Given the description of an element on the screen output the (x, y) to click on. 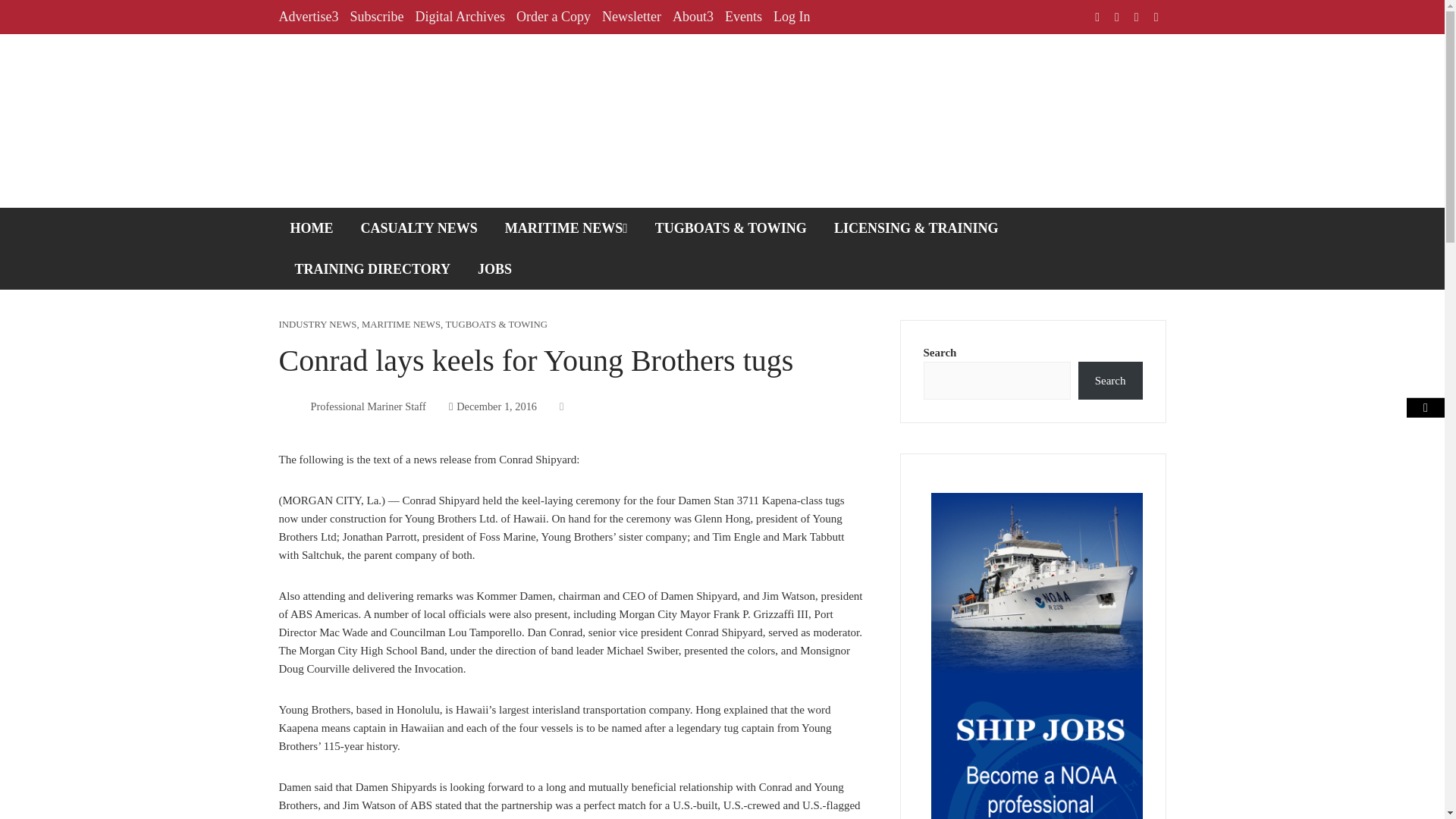
CASUALTY NEWS (418, 228)
MARITIME NEWS (401, 325)
INDUSTRY NEWS (317, 325)
Order a Copy (553, 17)
Log In (791, 17)
TRAINING DIRECTORY (373, 268)
Advertise (309, 17)
HOME (312, 228)
Digital Archives (458, 17)
MARITIME NEWS (566, 228)
